Given the description of an element on the screen output the (x, y) to click on. 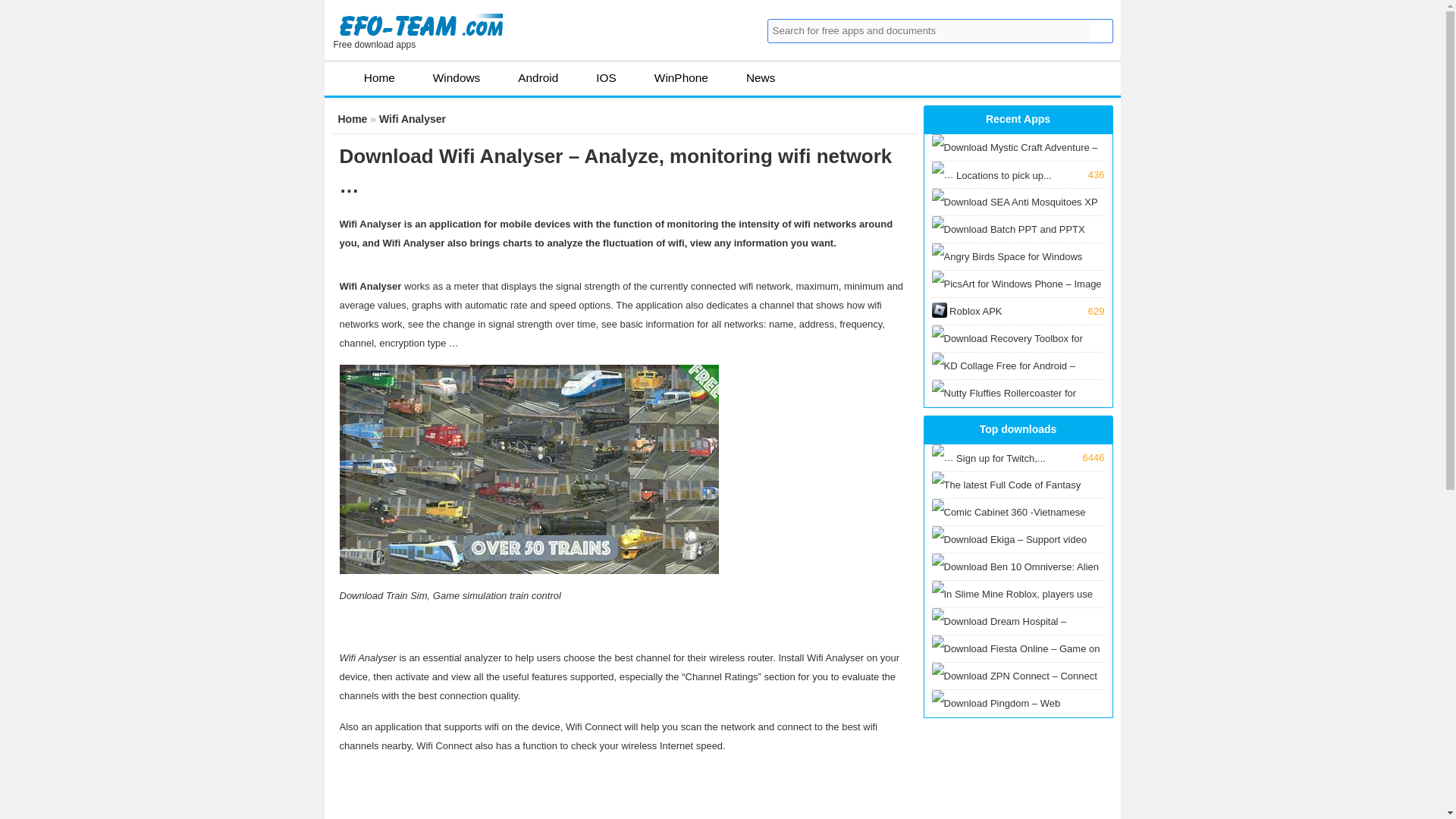
Ben 10 Omniverse:... (1017, 581)
Android (526, 77)
WinPhone (670, 77)
PicsArt for Windows... (1017, 299)
Nutty Fluffies... (1017, 408)
List of latest Slime... (1017, 661)
Ekiga (1017, 554)
SEA Anti Mosquitoes XP (1017, 230)
Batch PPT and PPTX... (1017, 257)
ZPN Connect (1017, 690)
home (366, 77)
WinPhone (670, 77)
Pingdom (1017, 731)
Recovery Toolbox for... (1017, 311)
